Given the description of an element on the screen output the (x, y) to click on. 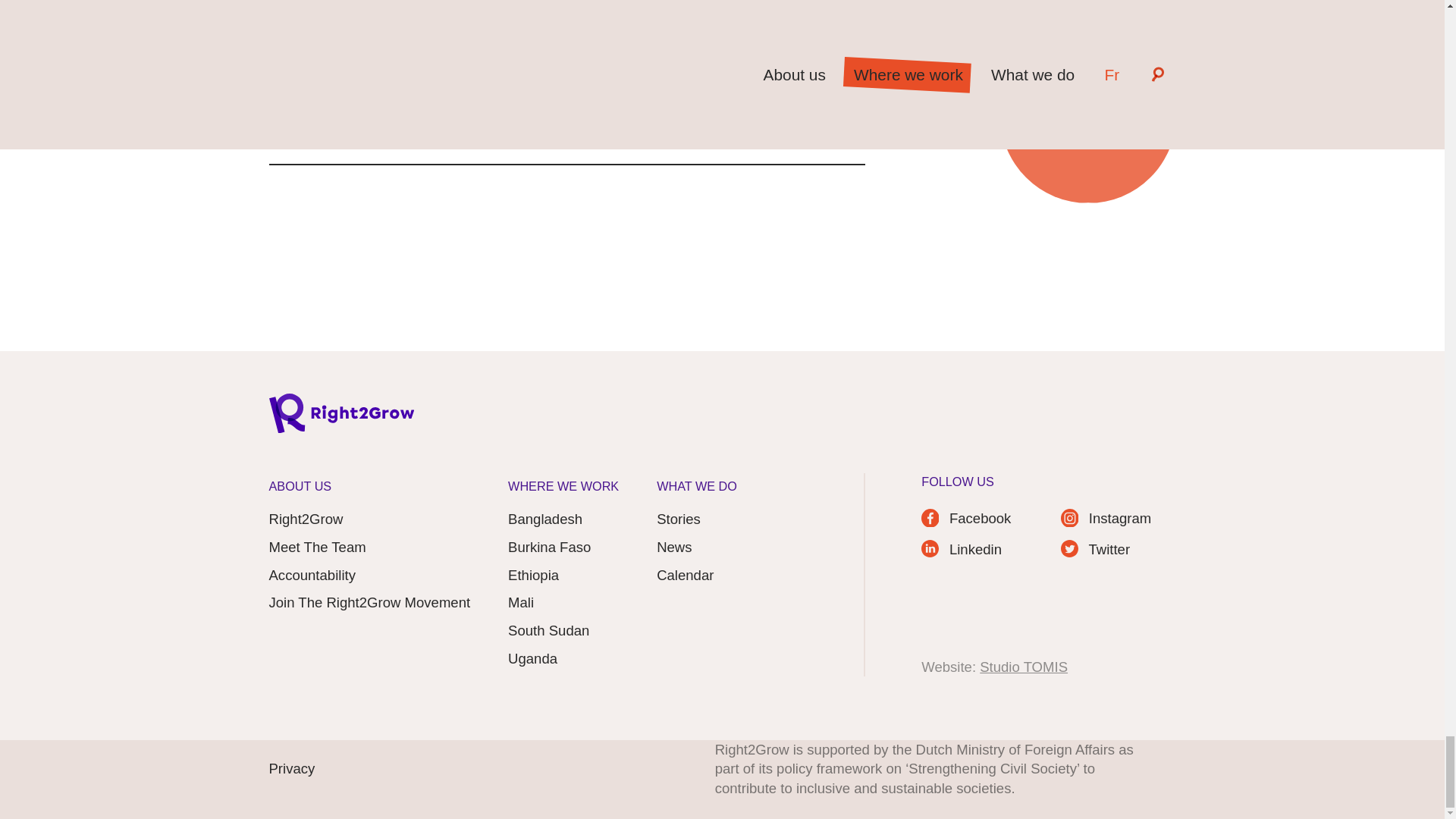
Accountability (311, 575)
Join The Right2Grow Movement (368, 602)
Right2Grow (304, 519)
Homepage Right2Grow (340, 417)
Homepage Right2Grow (340, 417)
Bangladesh (545, 519)
Subscribe (804, 136)
Meet The Team (316, 547)
